Given the description of an element on the screen output the (x, y) to click on. 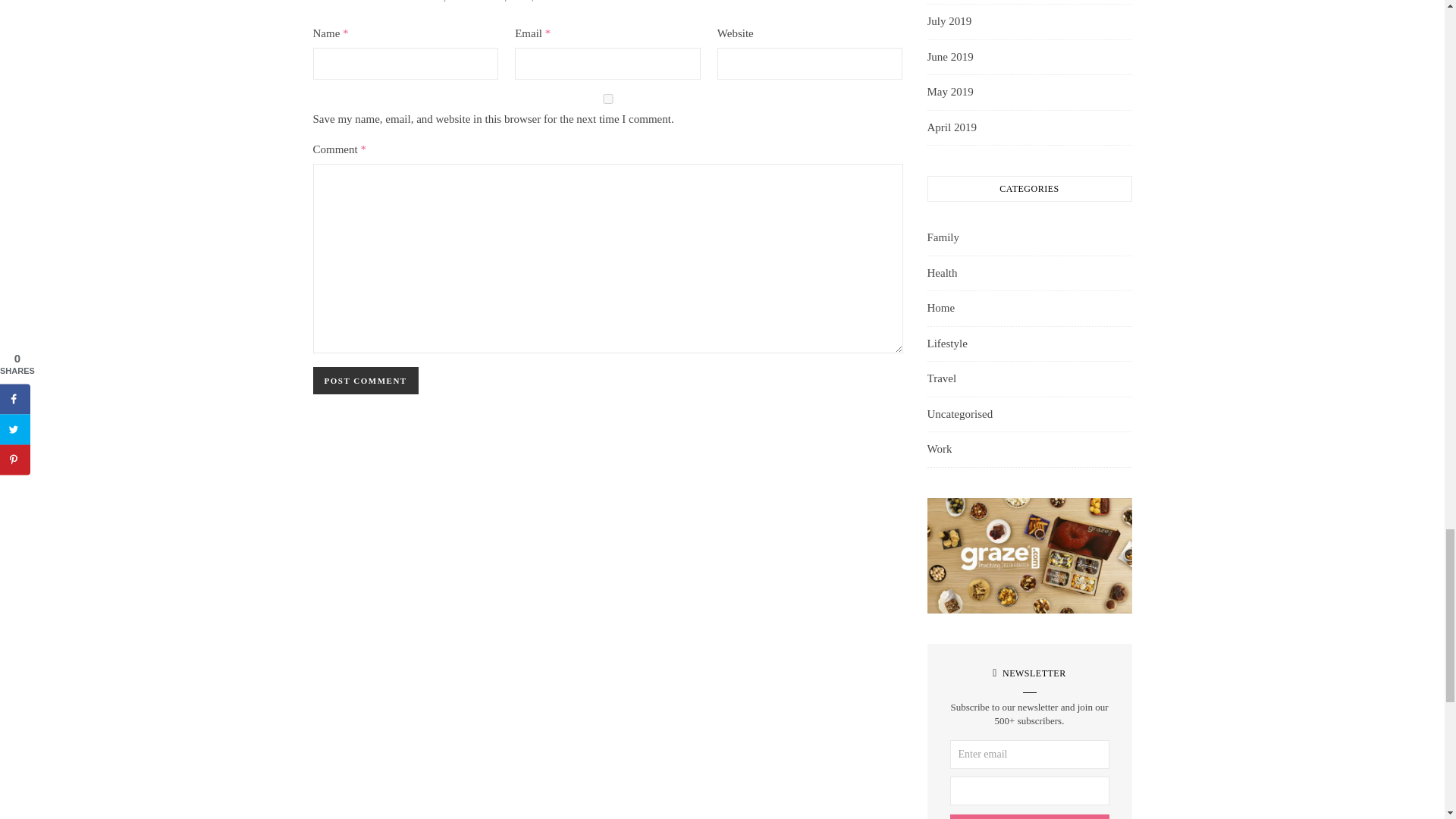
Subscribe! (1028, 816)
yes (607, 99)
Post Comment (365, 379)
